Given the description of an element on the screen output the (x, y) to click on. 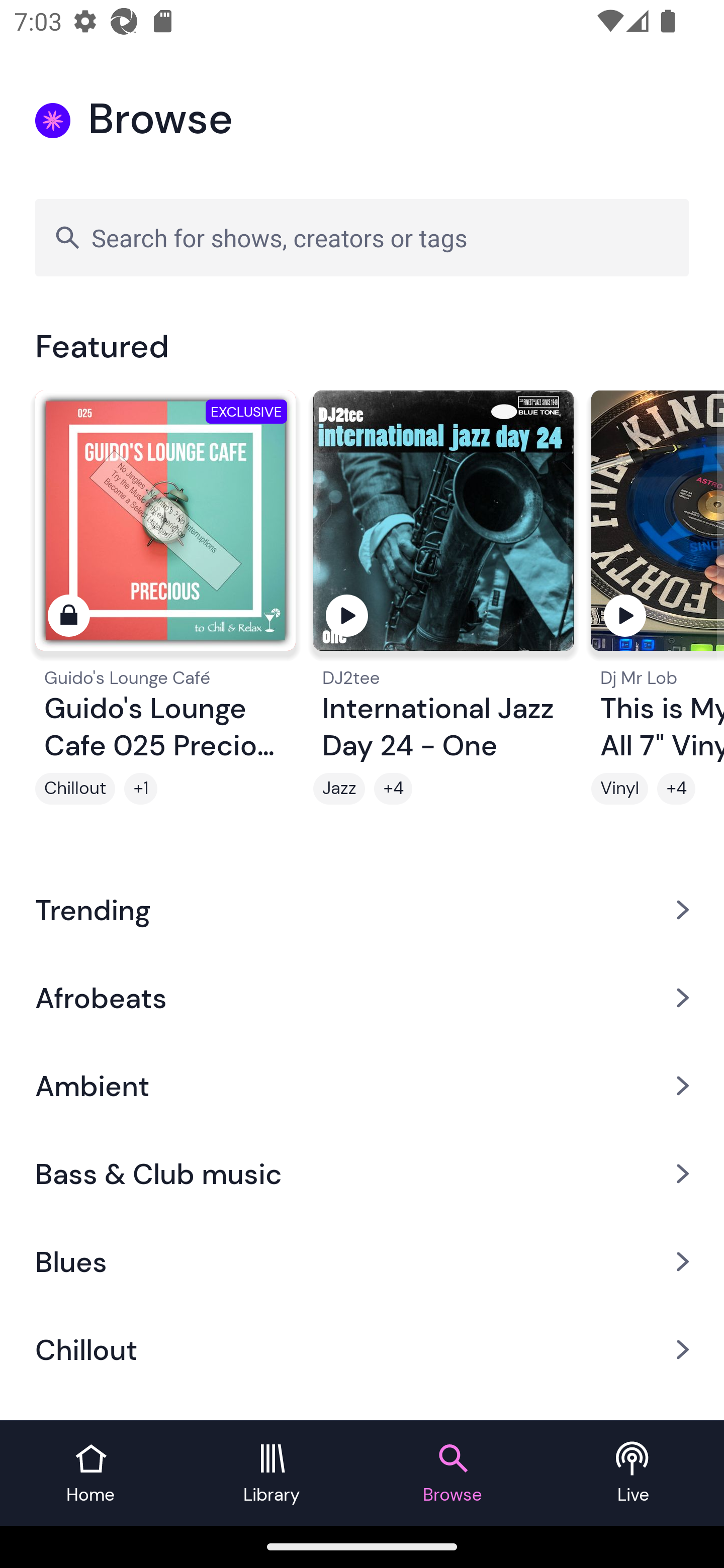
Search for shows, creators or tags (361, 237)
EXCLUSIVE (165, 528)
Chillout (75, 788)
Jazz (338, 788)
Vinyl (619, 788)
Trending (361, 909)
Afrobeats (361, 997)
Ambient (361, 1085)
Bass & Club music (361, 1174)
Blues (361, 1262)
Chillout (361, 1349)
Home tab Home (90, 1473)
Library tab Library (271, 1473)
Browse tab Browse (452, 1473)
Live tab Live (633, 1473)
